Given the description of an element on the screen output the (x, y) to click on. 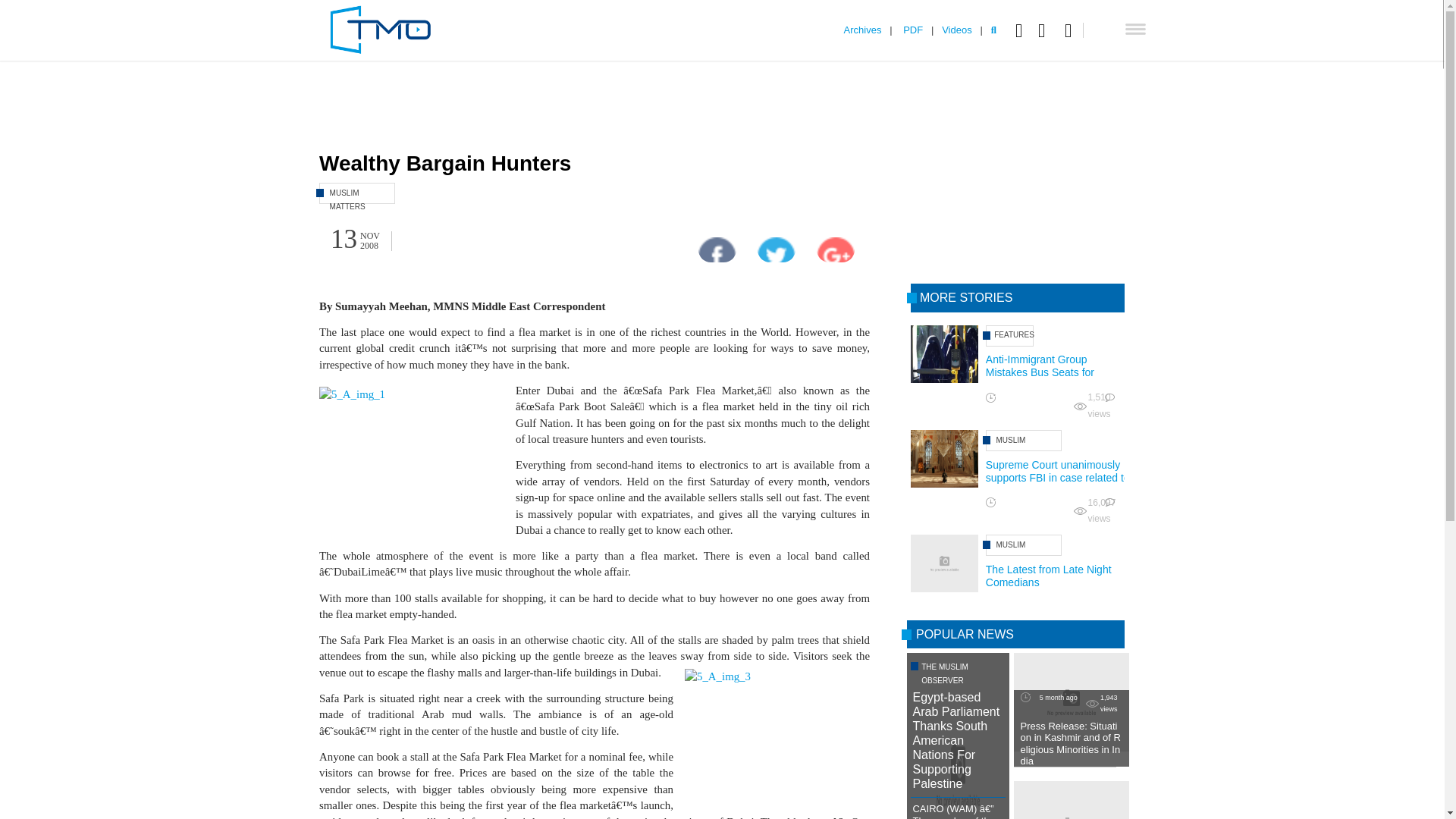
PDF (912, 30)
Instagram (1073, 29)
Twitter (1045, 29)
Facebook (1021, 29)
